Given the description of an element on the screen output the (x, y) to click on. 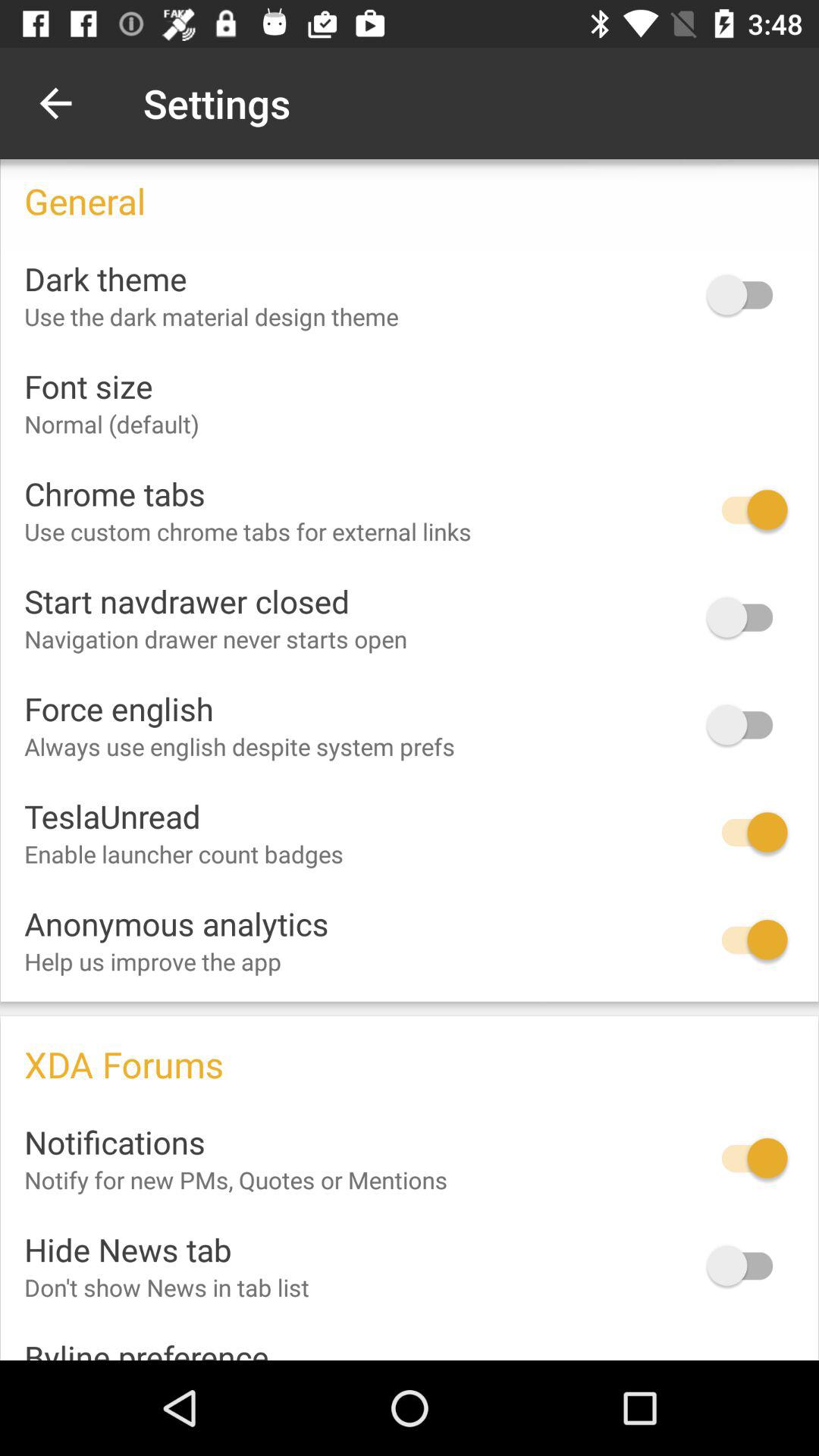
toggle on hide news tab (747, 1265)
